Given the description of an element on the screen output the (x, y) to click on. 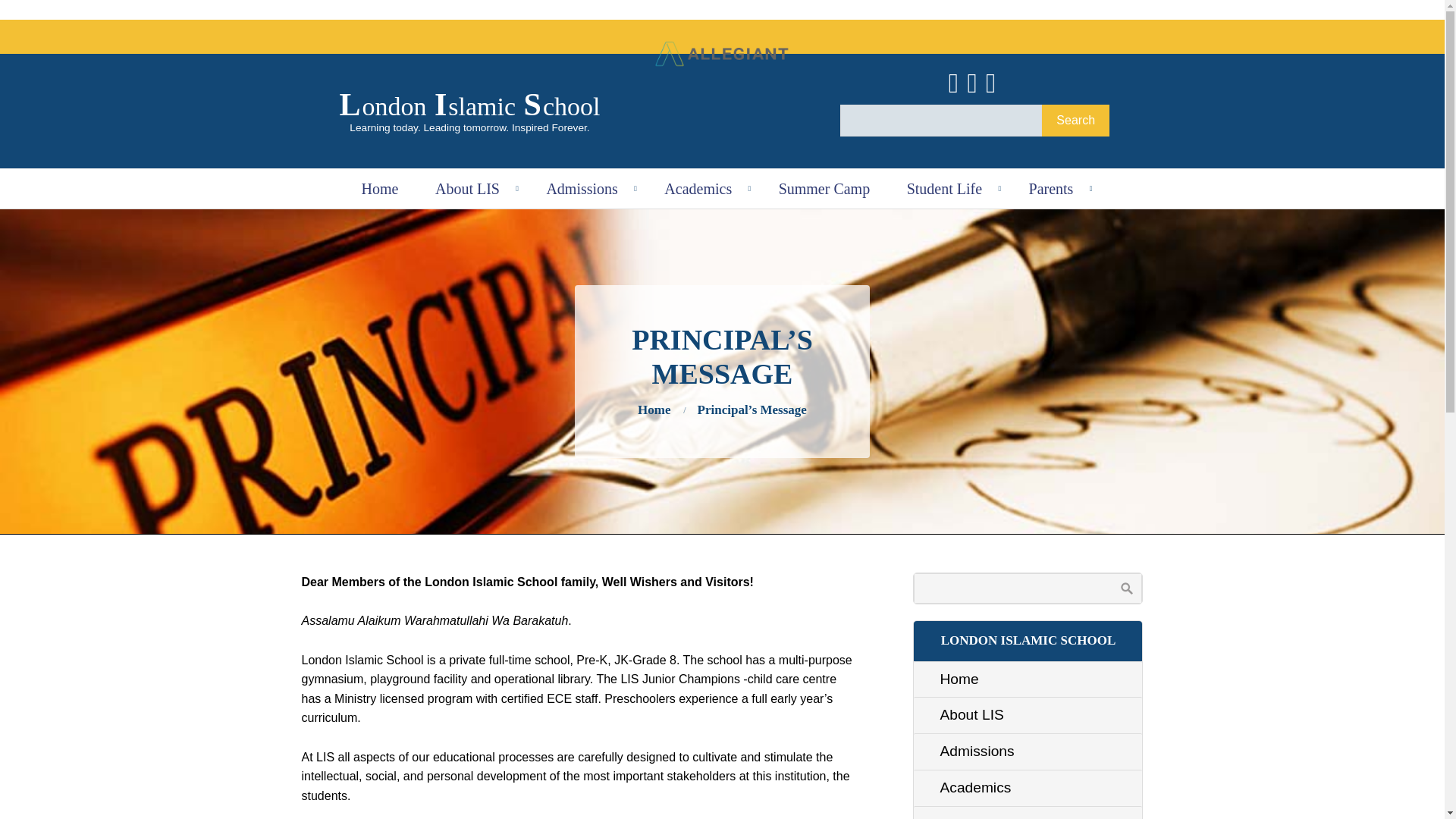
Search (1075, 120)
